Given the description of an element on the screen output the (x, y) to click on. 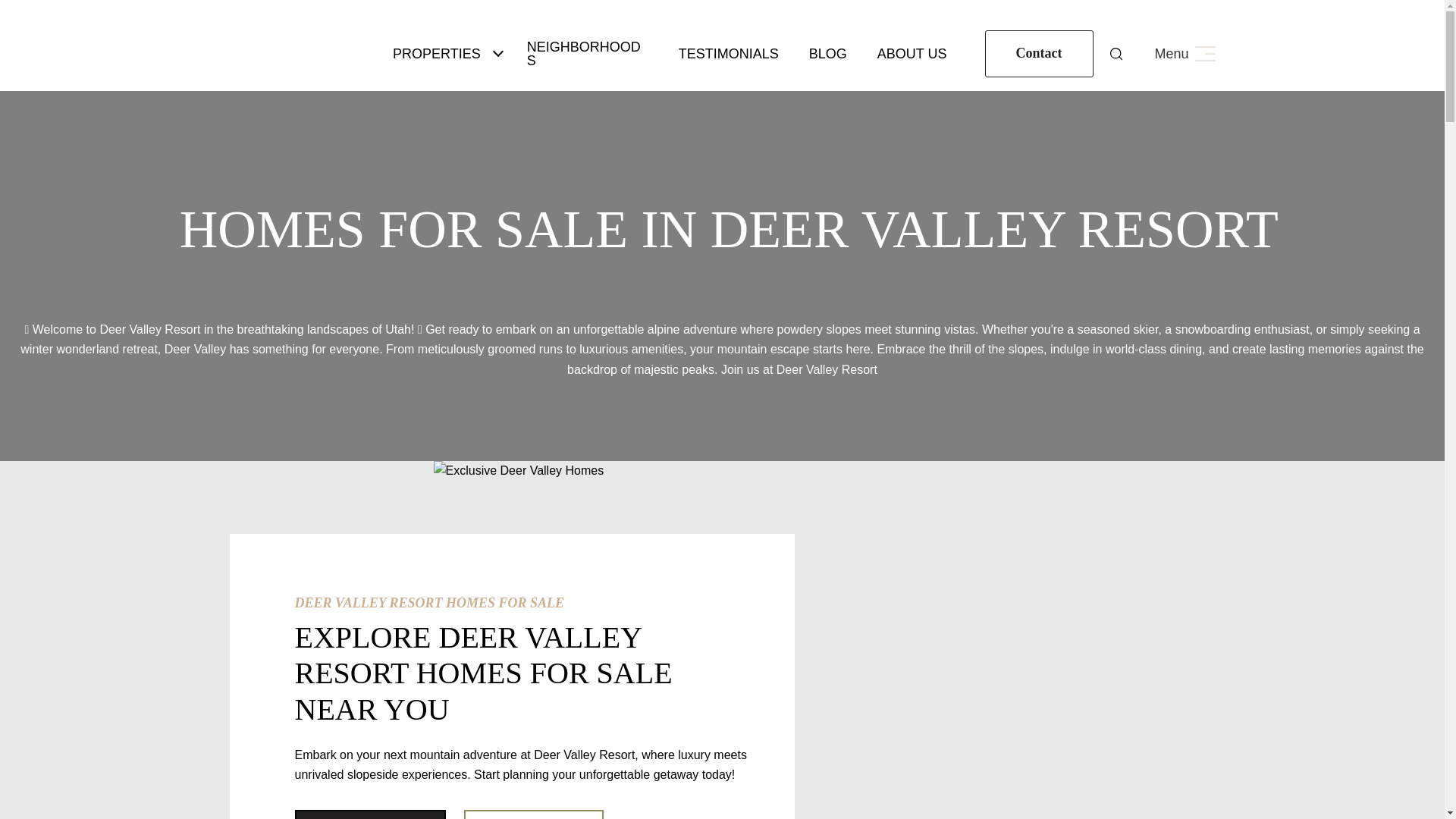
ABOUT US (912, 53)
Contact (1038, 53)
TESTIMONIALS (728, 53)
BLOG (828, 53)
Menu (1184, 53)
NEIGHBORHOODS (587, 53)
PROPERTIES (436, 53)
